Given the description of an element on the screen output the (x, y) to click on. 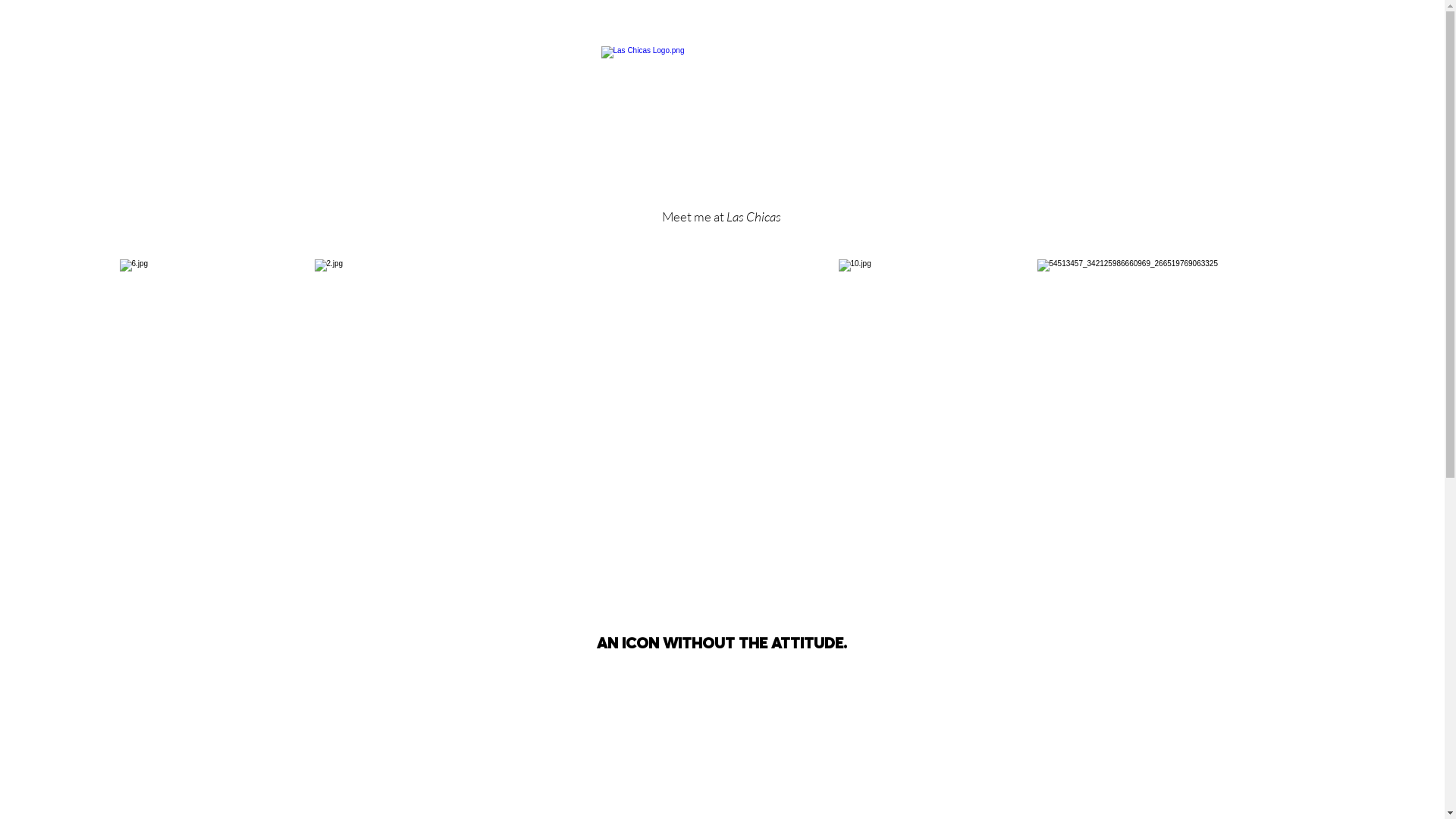
Las Chicas Element type: text (753, 216)
